Given the description of an element on the screen output the (x, y) to click on. 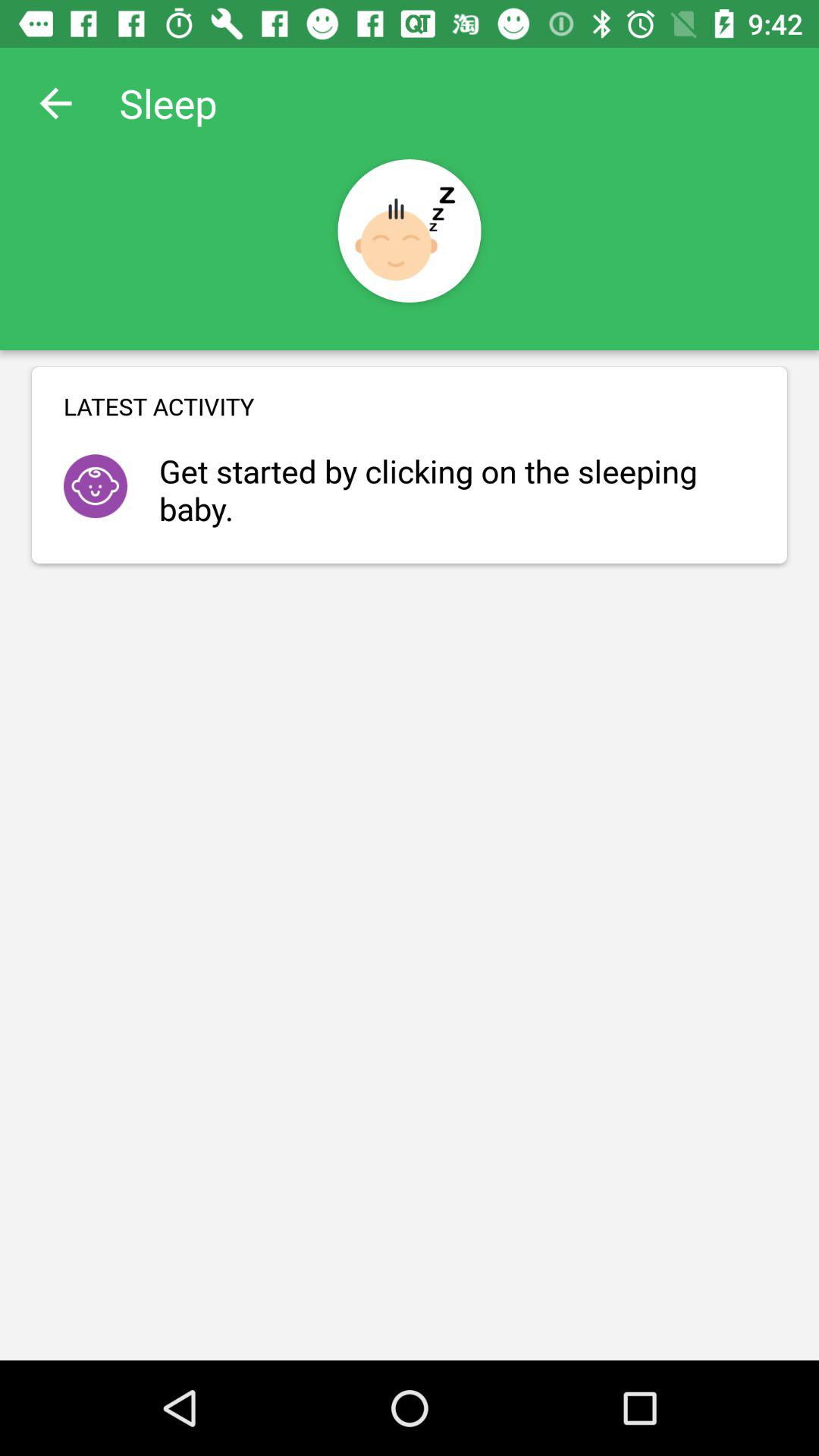
click the app next to sleep icon (55, 103)
